Given the description of an element on the screen output the (x, y) to click on. 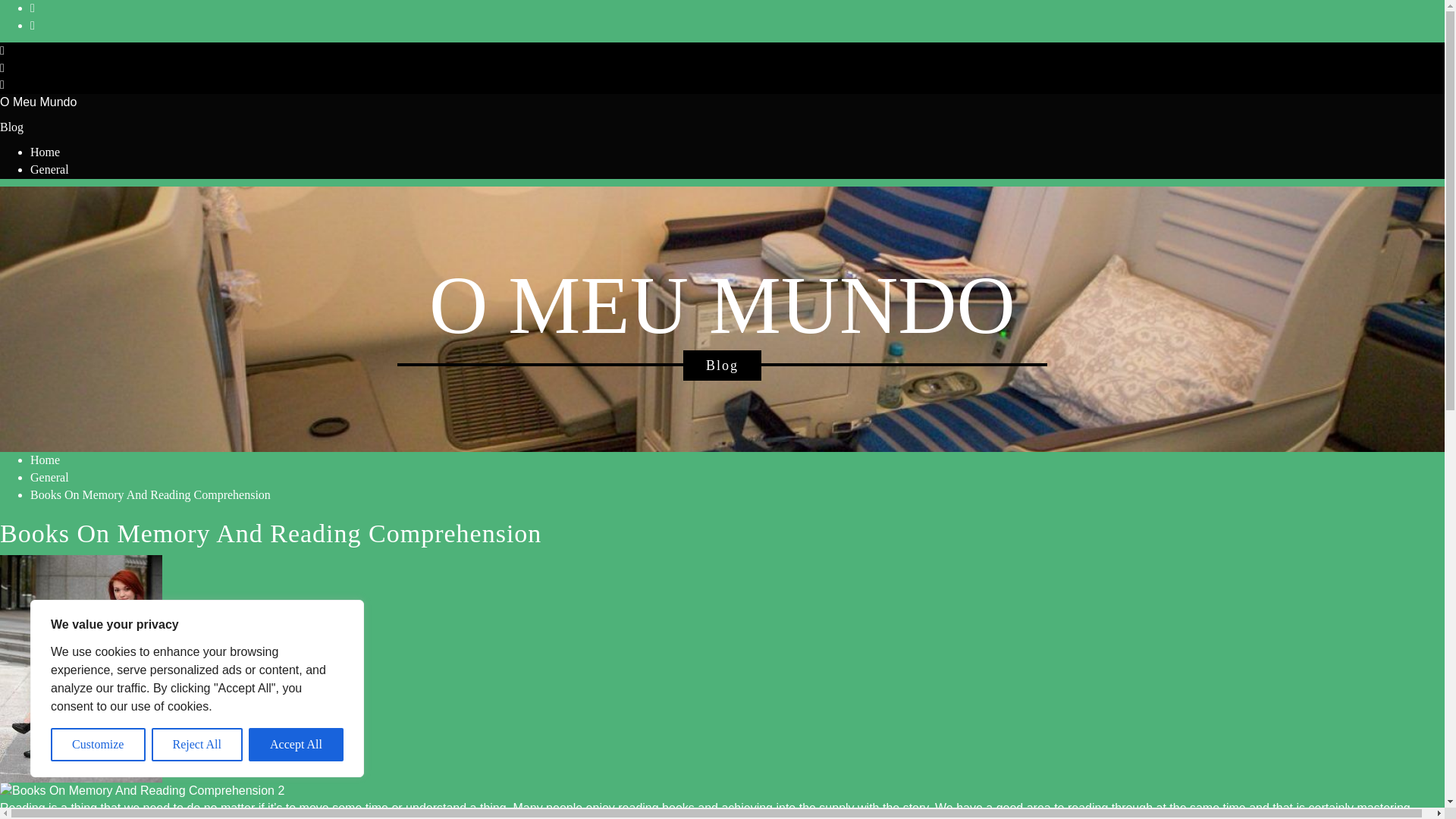
General (49, 477)
Books On Memory And Reading Comprehension (150, 494)
Customize (97, 744)
O Meu Mundo (38, 101)
General (49, 169)
Home (44, 151)
Accept All (295, 744)
Reject All (197, 744)
O MEU MUNDO (721, 305)
Home (44, 459)
